Given the description of an element on the screen output the (x, y) to click on. 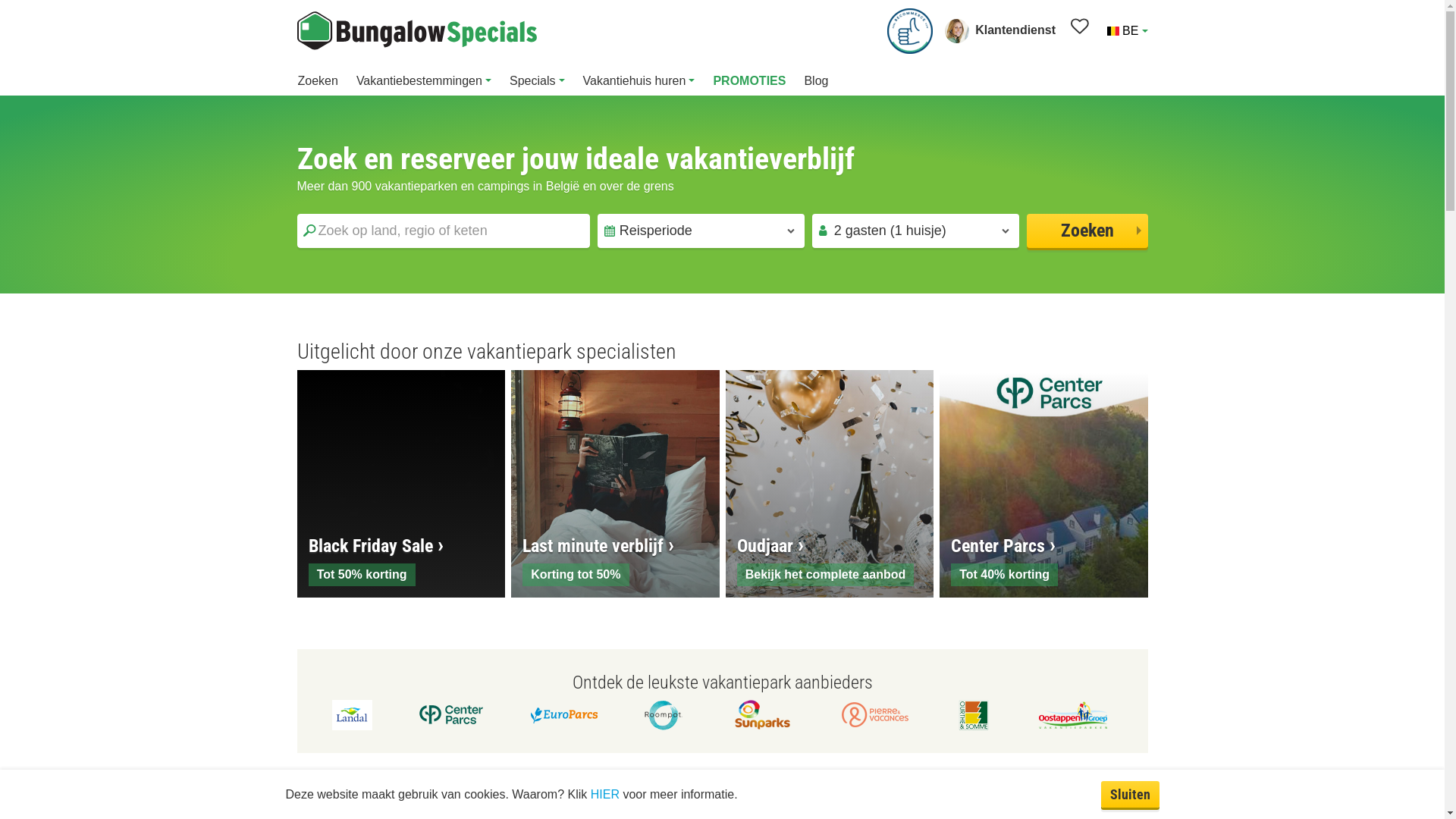
Vakantiebestemmingen Element type: text (423, 81)
Vakantiehuis huren Element type: text (639, 81)
BE Element type: text (1126, 30)
Klantendienst Element type: text (999, 29)
Blog Element type: text (815, 81)
Zoeken Element type: text (317, 81)
Specials Element type: text (537, 81)
Veilig online winkelen met BeCommerce! Element type: hover (909, 30)
Sluiten Element type: text (1130, 794)
PROMOTIES Element type: text (748, 81)
HIER Element type: text (604, 793)
2 gasten (1 huisje) Element type: text (915, 230)
Zoeken Element type: text (1087, 230)
Reisperiode Element type: text (700, 230)
